Given the description of an element on the screen output the (x, y) to click on. 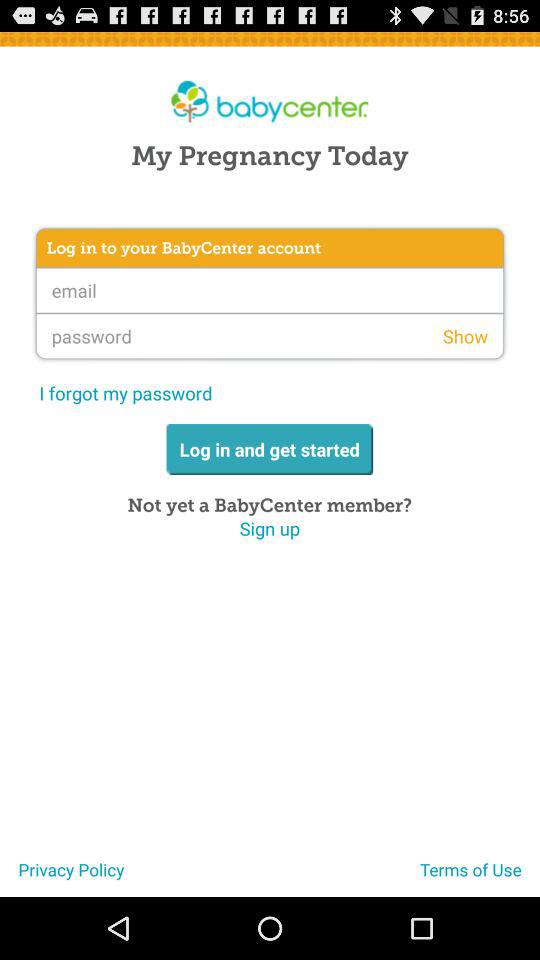
launch terms of use (480, 877)
